Given the description of an element on the screen output the (x, y) to click on. 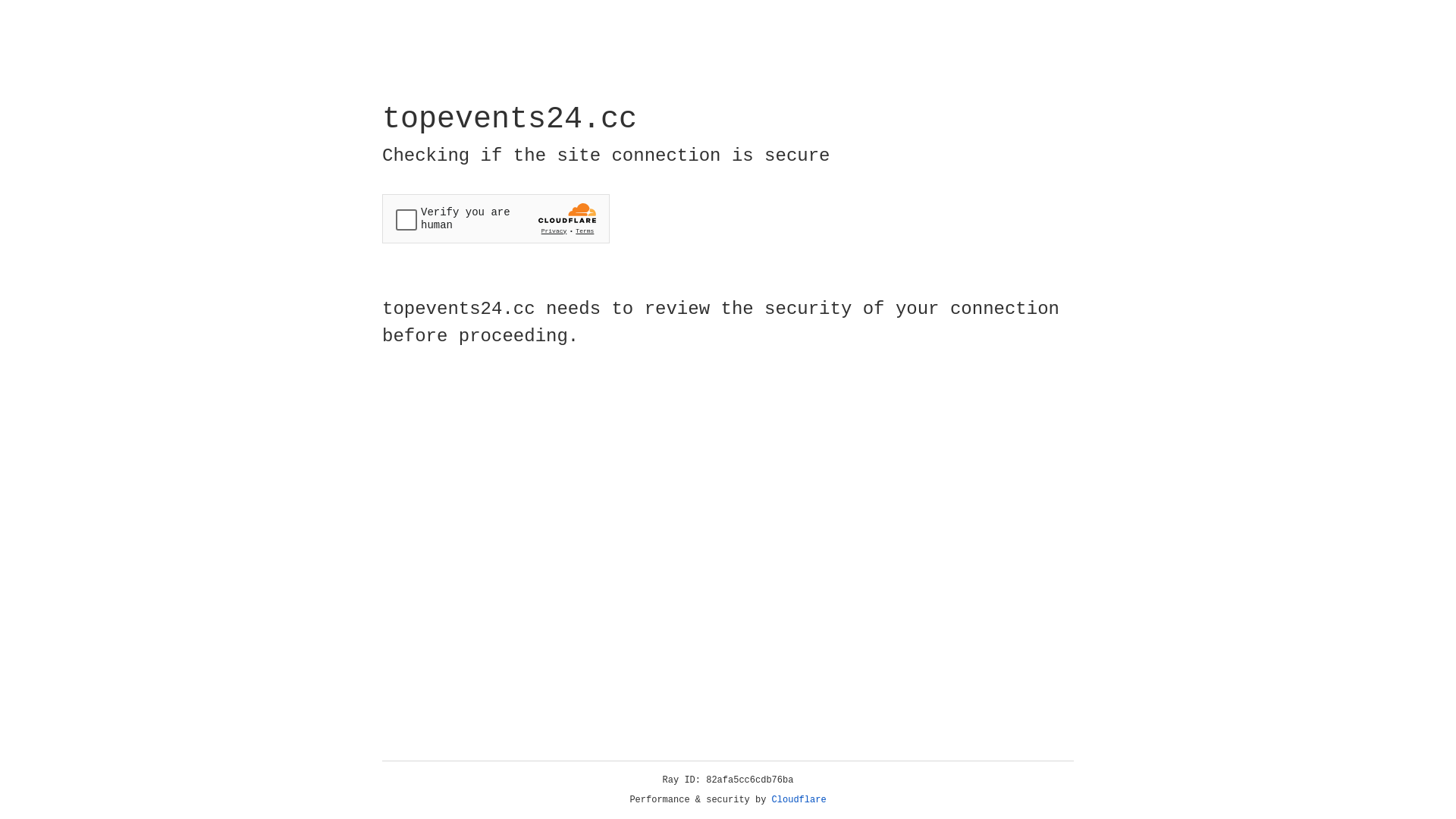
Cloudflare Element type: text (798, 799)
Widget containing a Cloudflare security challenge Element type: hover (495, 218)
